Given the description of an element on the screen output the (x, y) to click on. 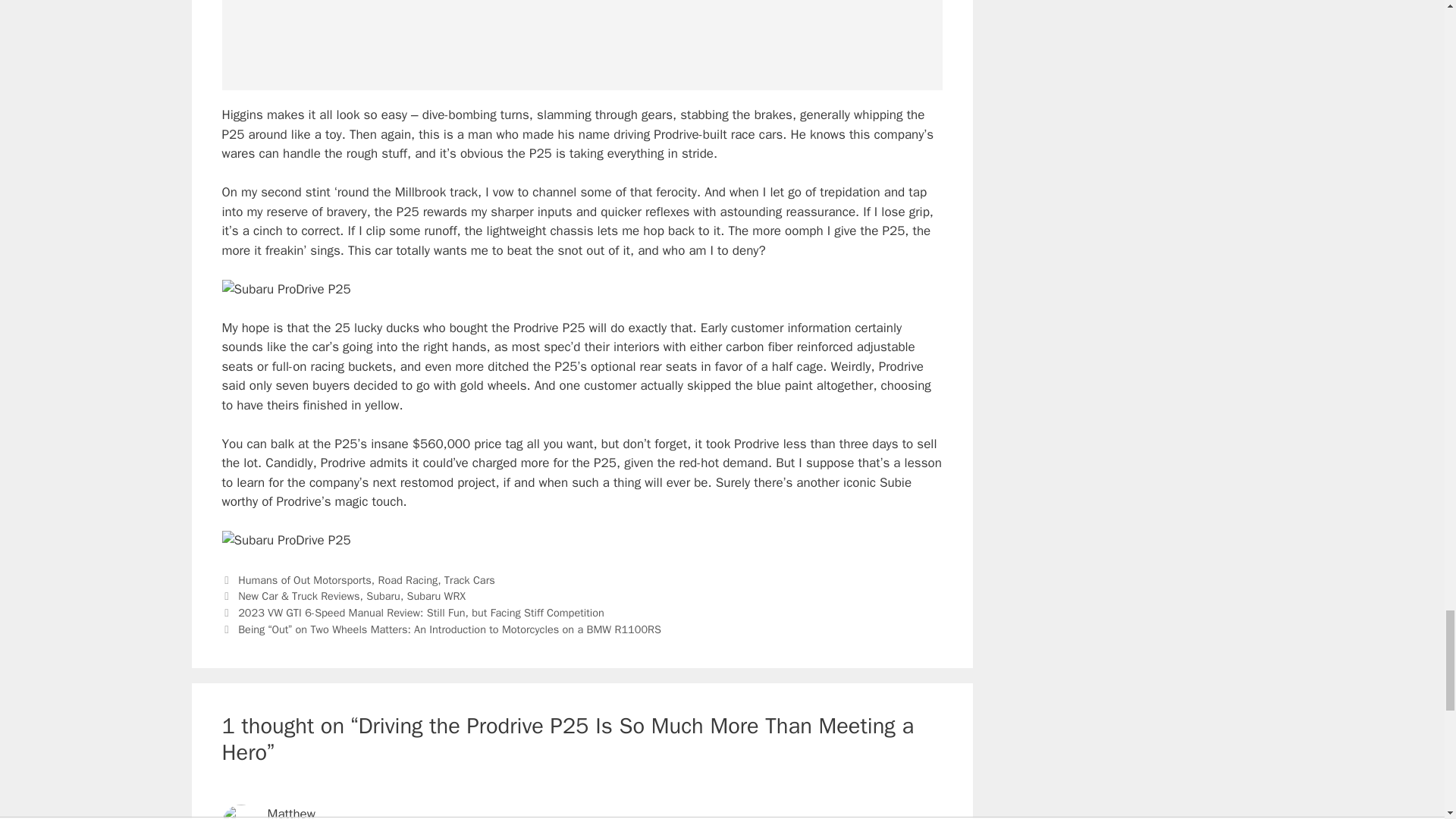
Track Cars (469, 580)
Subaru (383, 595)
Subaru WRX (436, 595)
Road Racing (407, 580)
Humans of Out Motorsports (304, 580)
